Given the description of an element on the screen output the (x, y) to click on. 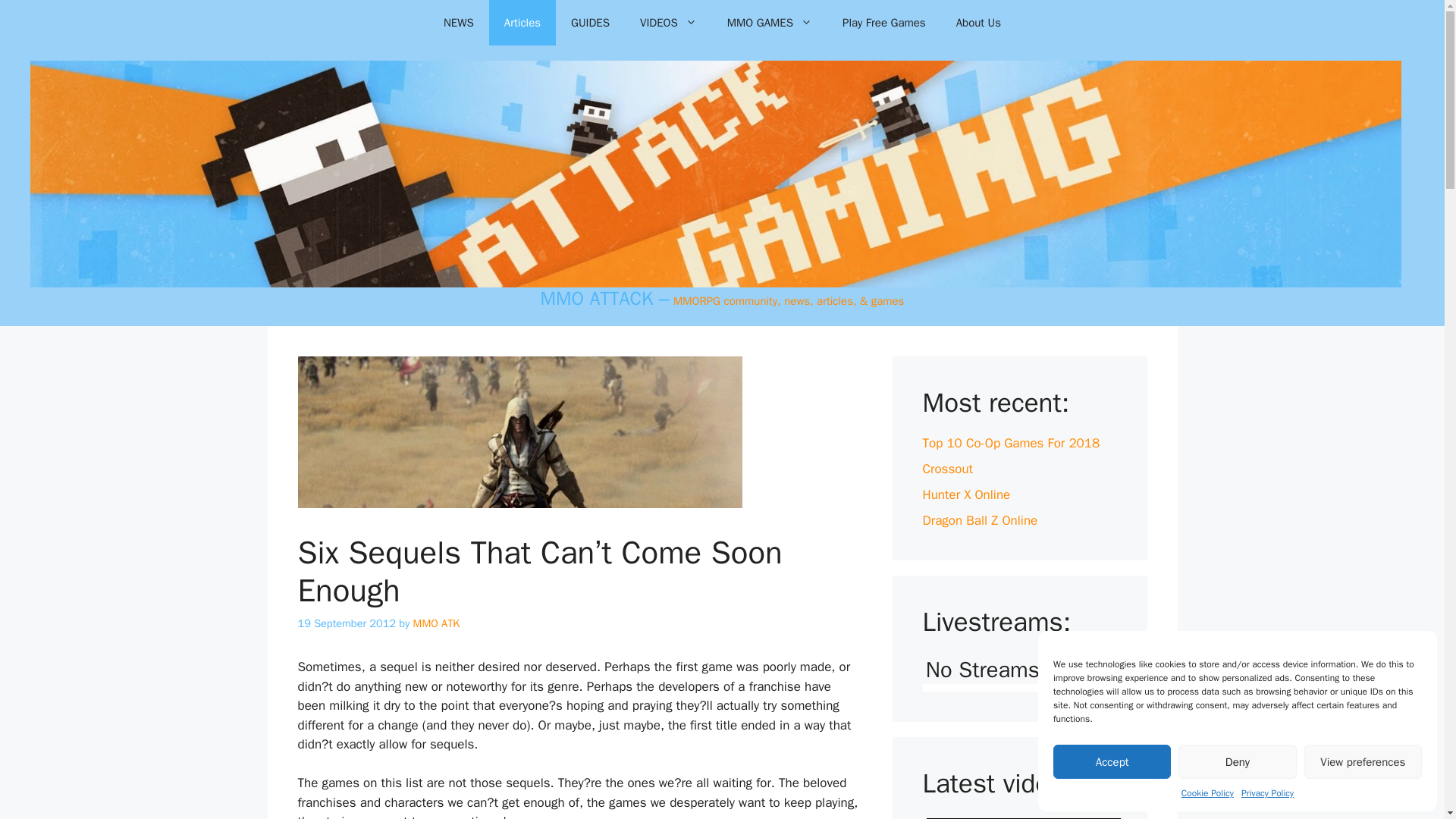
VIDEOS (667, 22)
Accept (1111, 761)
Articles (522, 22)
View preferences (1363, 761)
GUIDES (590, 22)
Privacy Policy (1267, 793)
Deny (1236, 761)
NEWS (458, 22)
View all posts by MMO ATK (436, 622)
MMO GAMES (769, 22)
Cookie Policy (1206, 793)
